Given the description of an element on the screen output the (x, y) to click on. 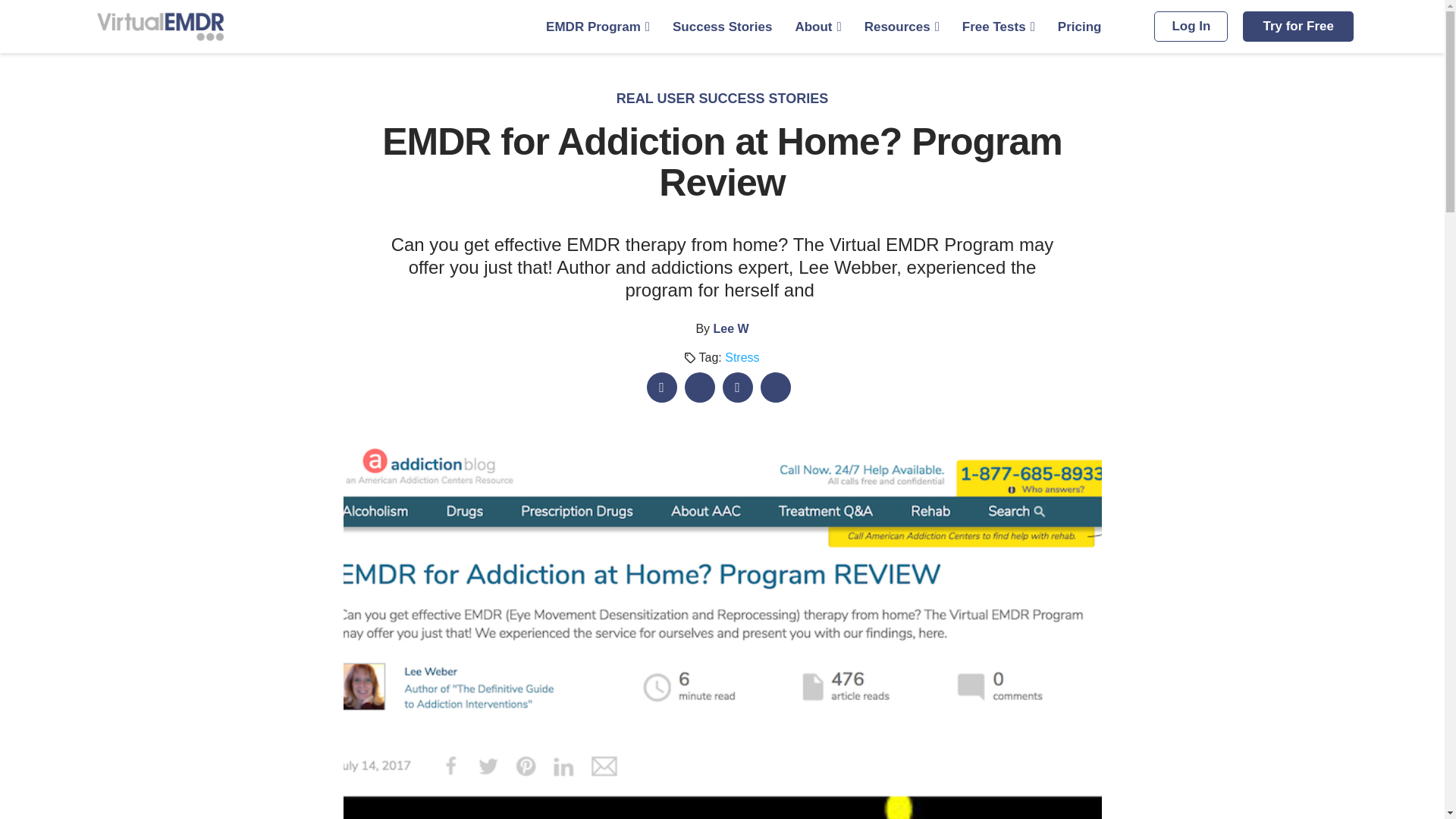
Try for Free (1298, 26)
Free Tests (998, 26)
Log In (1190, 26)
EMDR Program (597, 26)
Resources (901, 26)
Success Stories (721, 26)
